Given the description of an element on the screen output the (x, y) to click on. 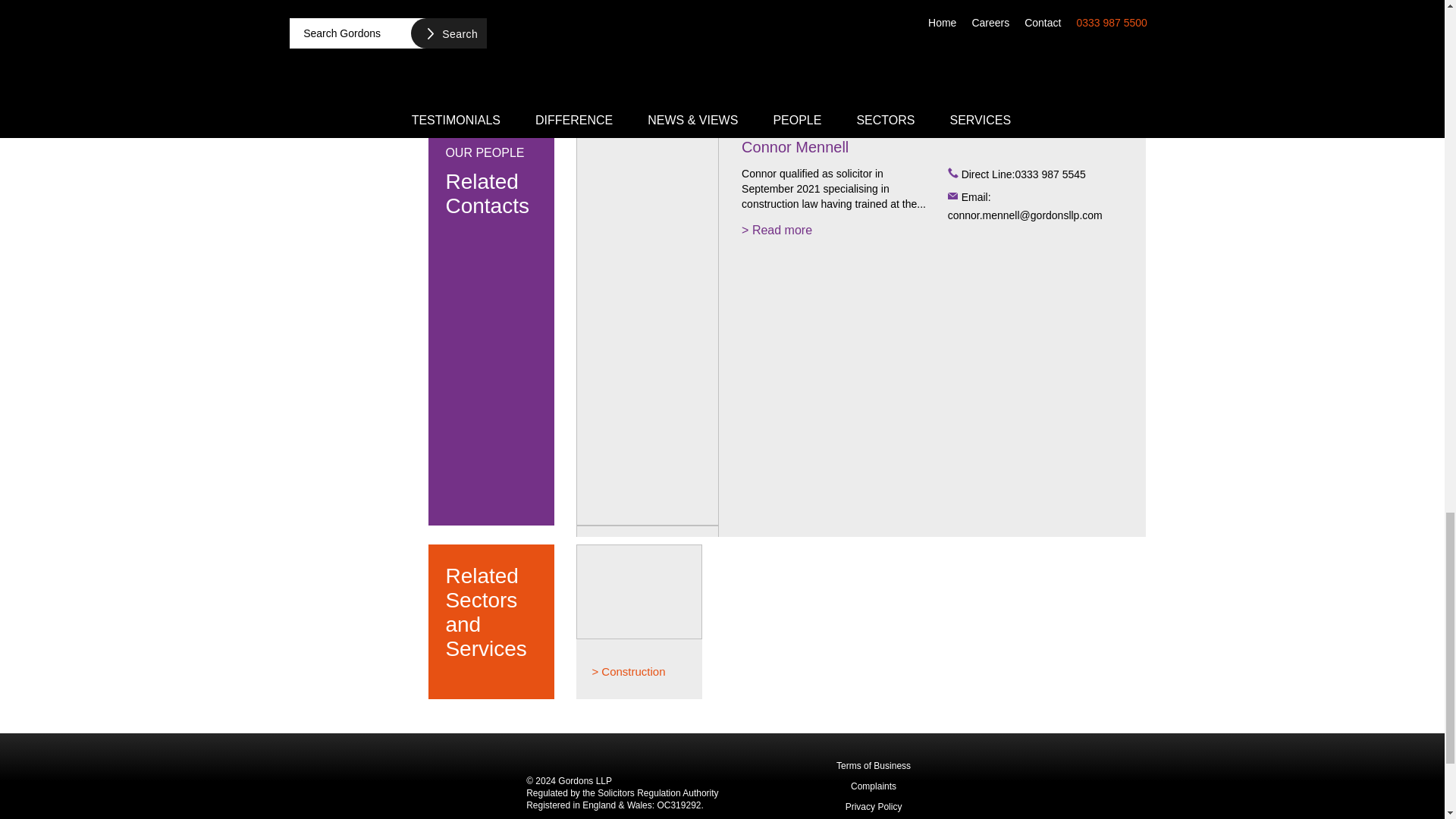
Call 0333 987 5545 (1039, 175)
Read more (776, 230)
Our people (489, 179)
Connor Mennell (794, 147)
